Given the description of an element on the screen output the (x, y) to click on. 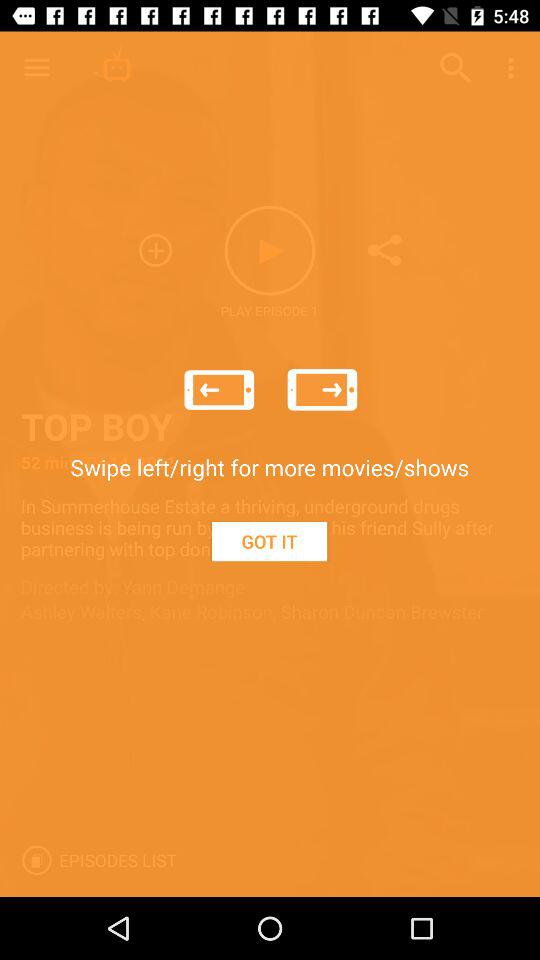
jump until got it (269, 541)
